Given the description of an element on the screen output the (x, y) to click on. 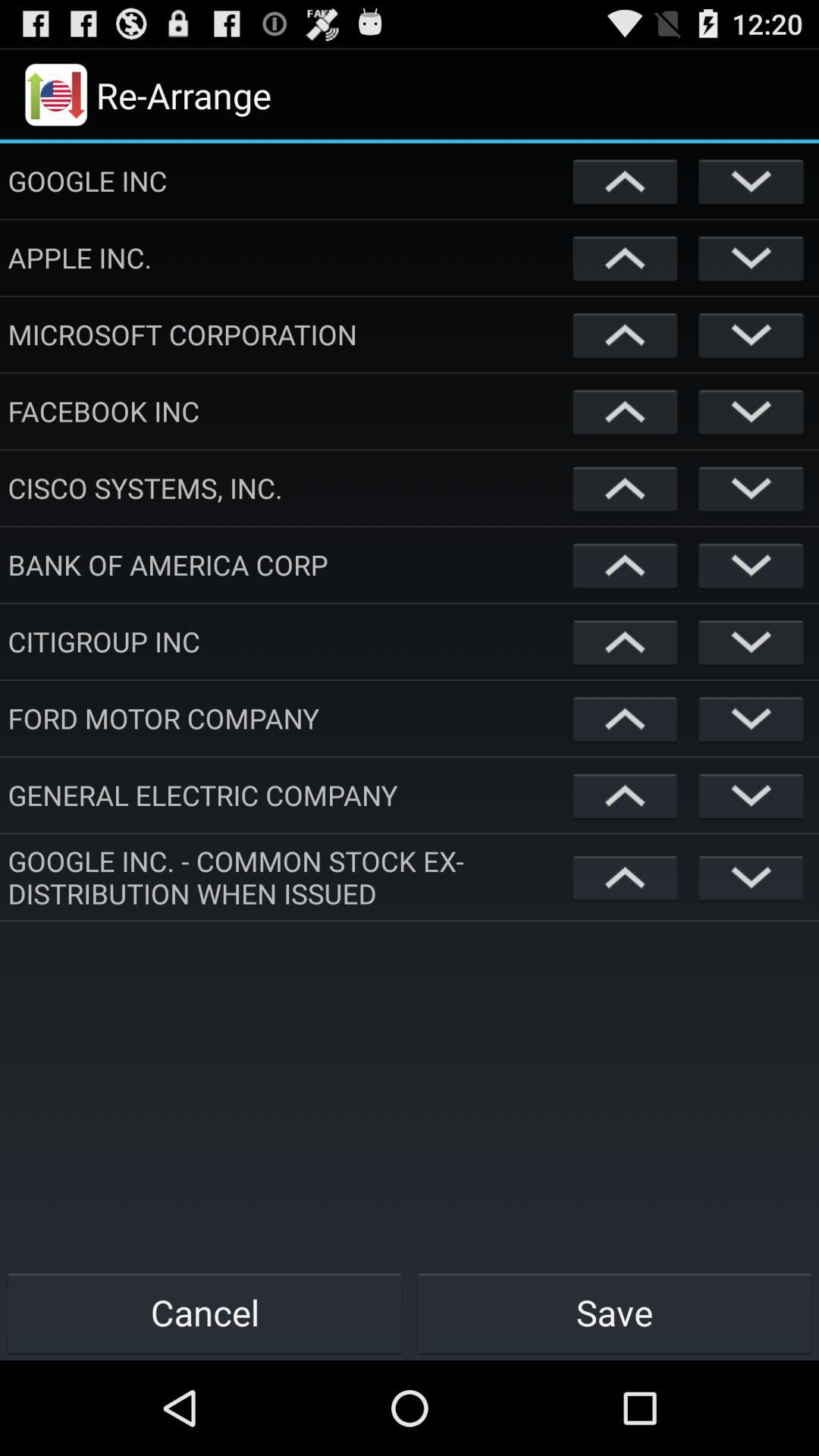
go to hide option (751, 641)
